Given the description of an element on the screen output the (x, y) to click on. 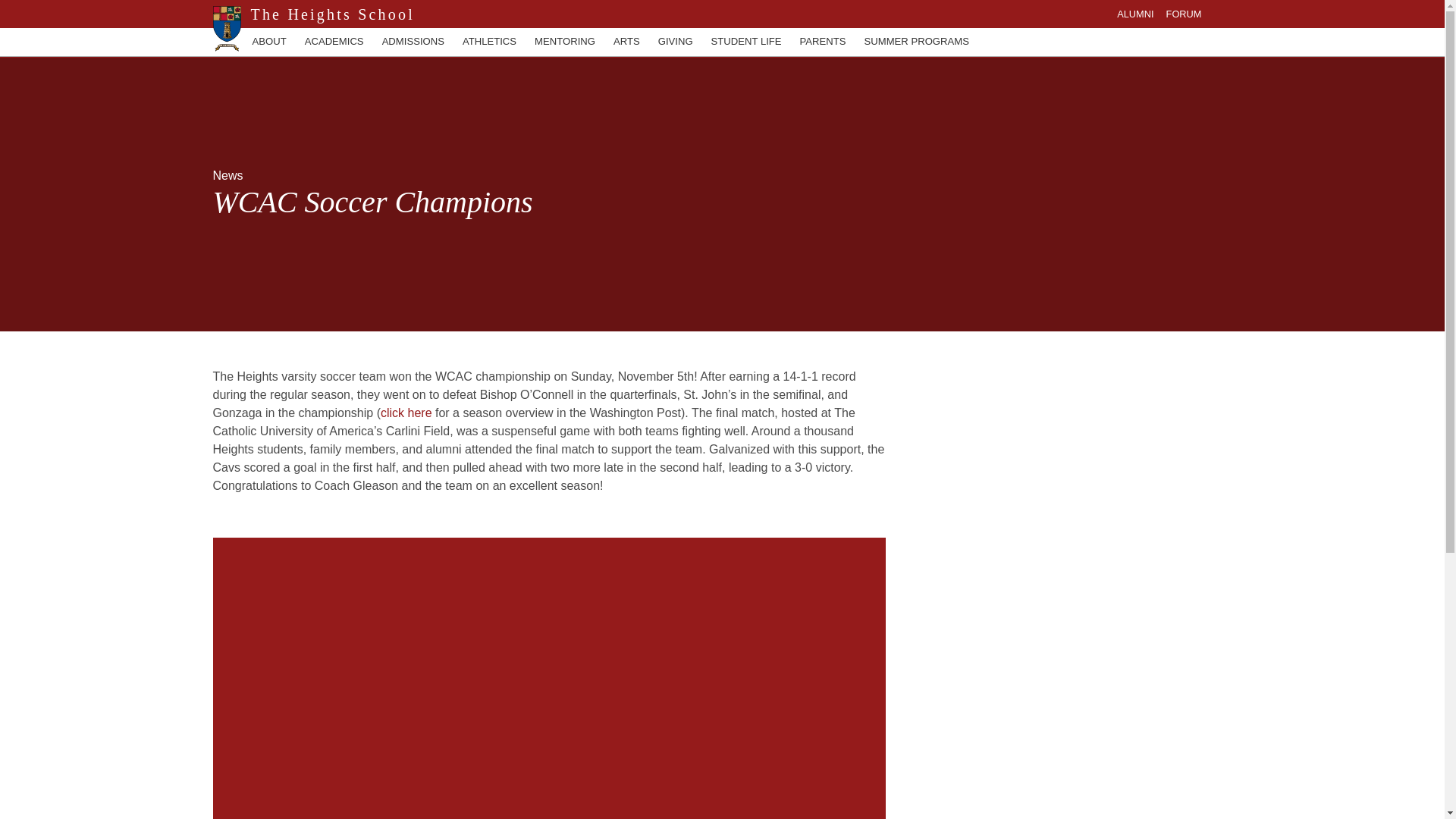
The Heights School (328, 13)
FORUM (1184, 13)
ABOUT (269, 41)
ALUMNI (1134, 13)
ACADEMICS (333, 41)
